Given the description of an element on the screen output the (x, y) to click on. 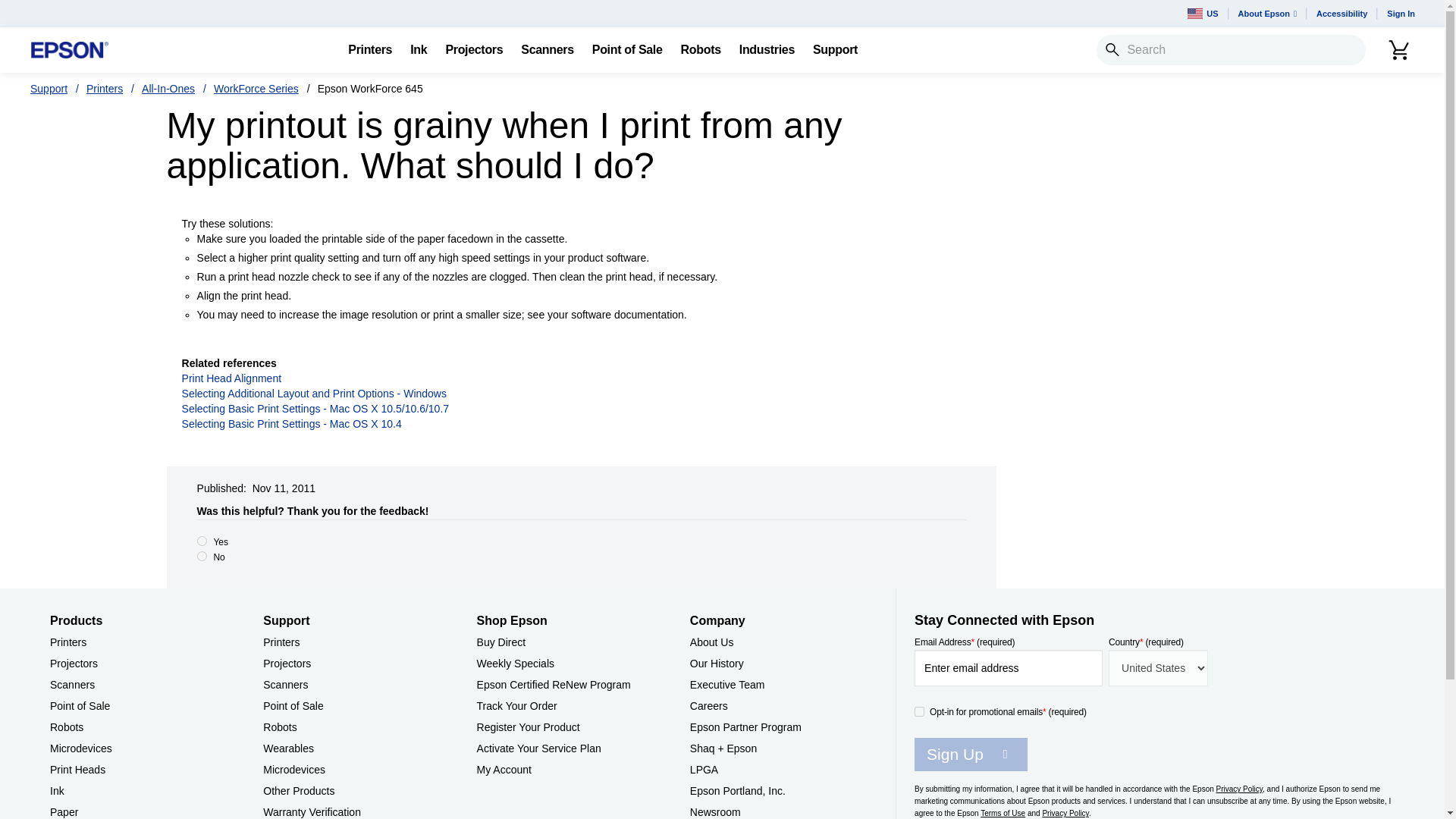
Epson Logo (69, 49)
Sign In (1400, 13)
US (1202, 13)
Accessibility (1341, 13)
US (1202, 13)
Accessibility (1341, 13)
on (919, 711)
no (201, 556)
Sign In (1400, 13)
About Epson (1267, 13)
